Given the description of an element on the screen output the (x, y) to click on. 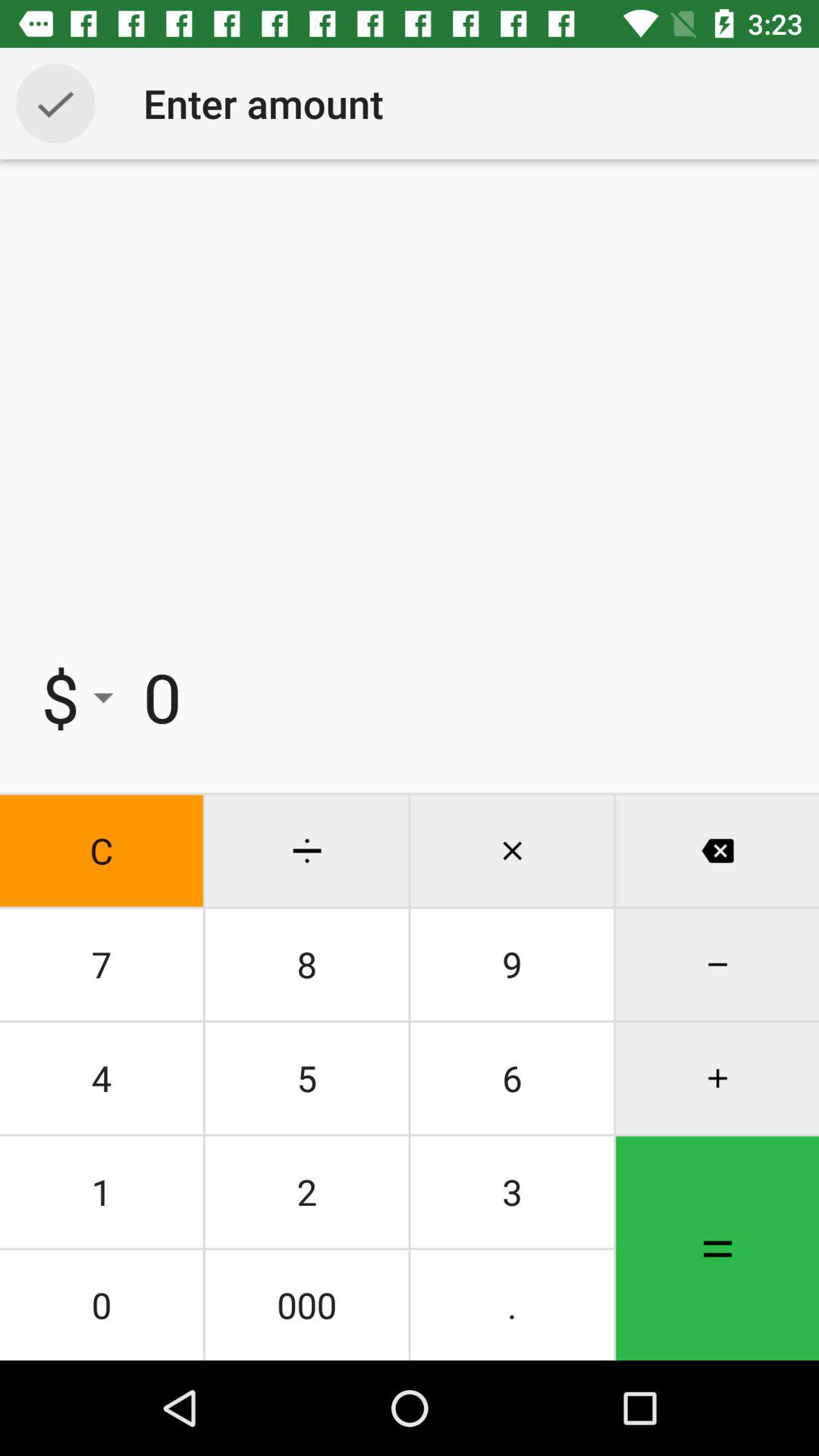
click the icon to the right of the c item (306, 964)
